Given the description of an element on the screen output the (x, y) to click on. 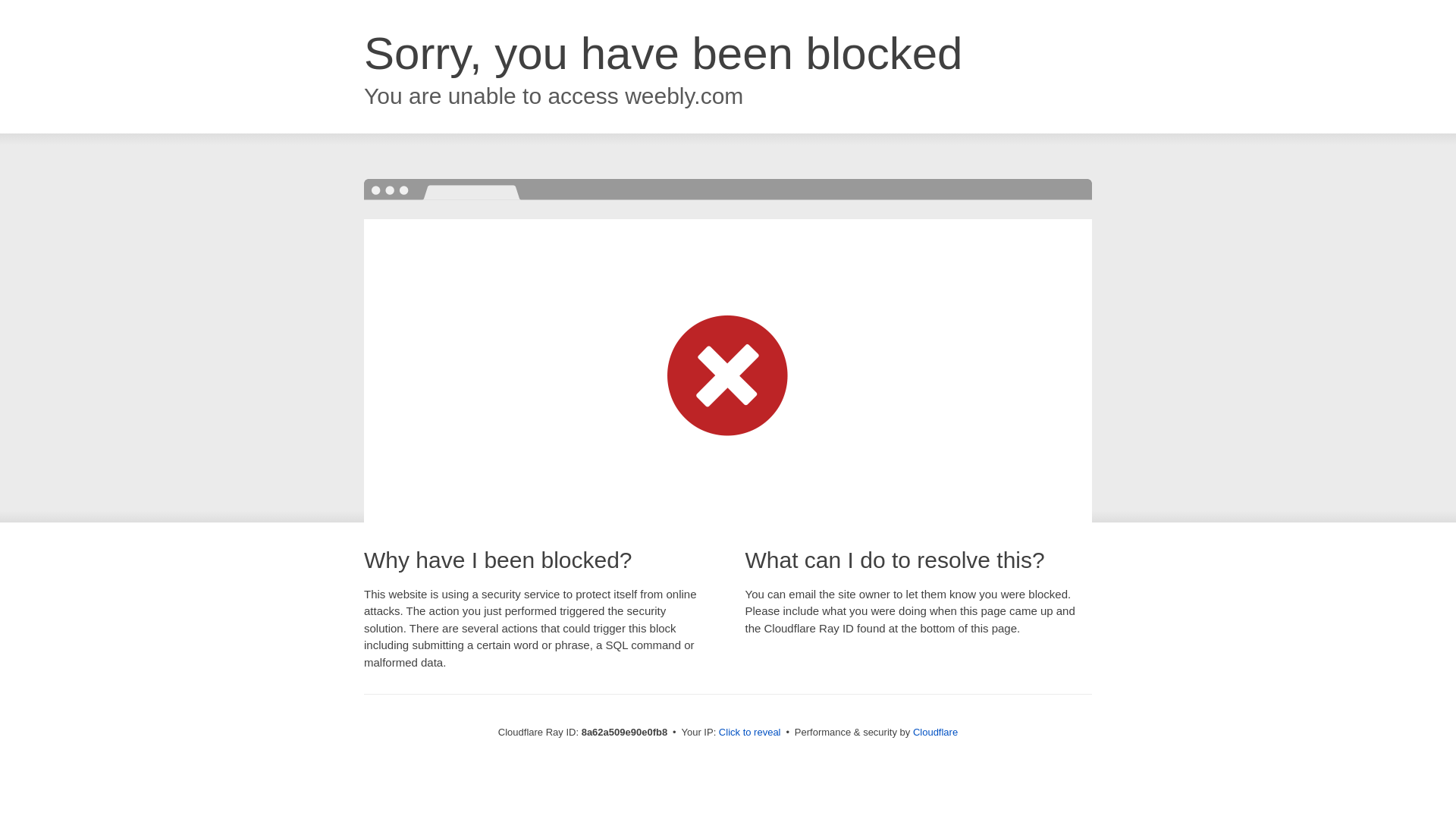
Click to reveal (749, 732)
Cloudflare (935, 731)
